Given the description of an element on the screen output the (x, y) to click on. 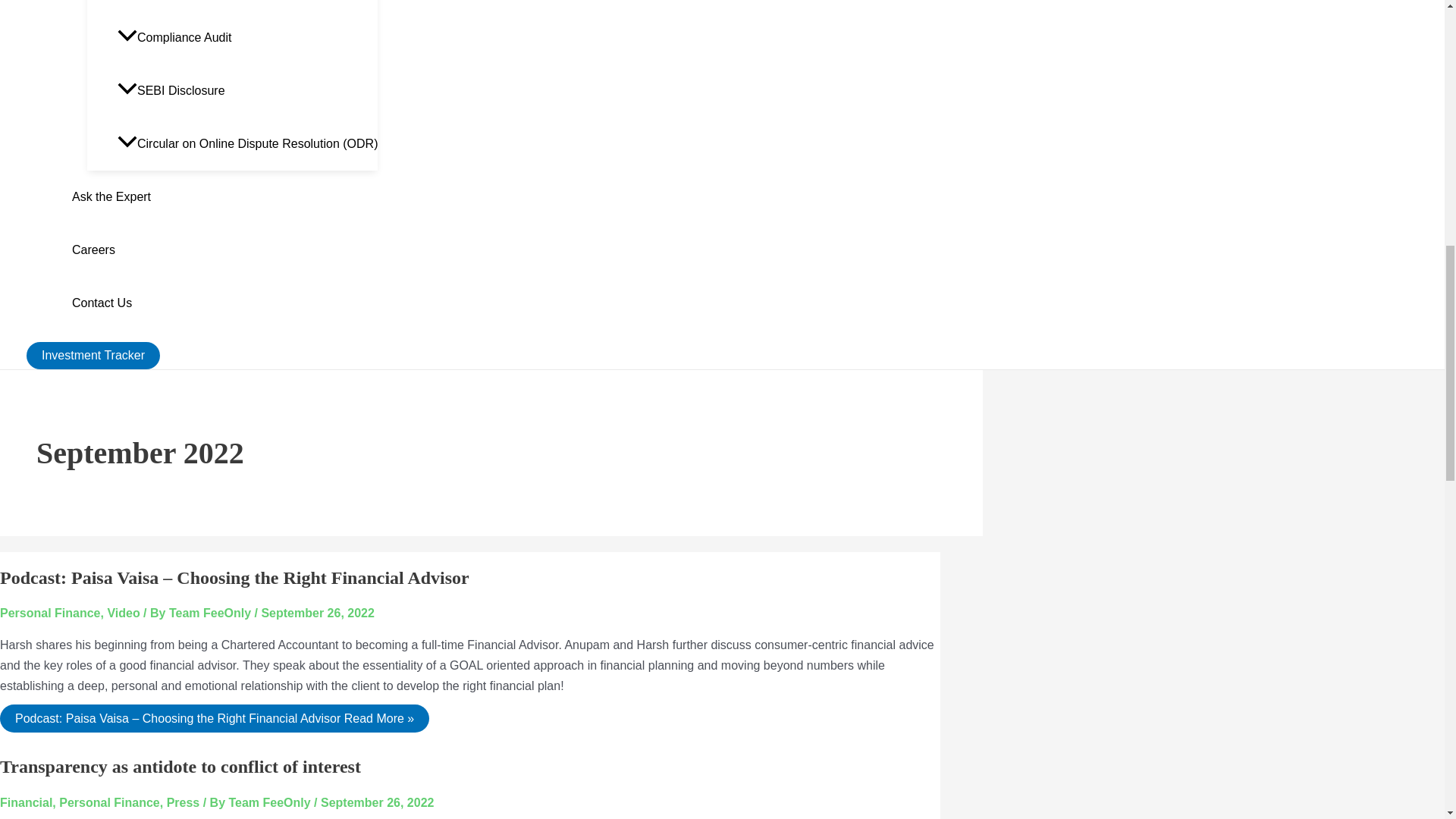
Compliance Audit (247, 37)
SEBI Disclosure (247, 90)
Contact Us (224, 303)
Ask the Expert (224, 196)
Investment Tracker (93, 355)
Careers (224, 249)
View all posts by Team FeeOnly (271, 802)
View all posts by Team FeeOnly (211, 612)
